Given the description of an element on the screen output the (x, y) to click on. 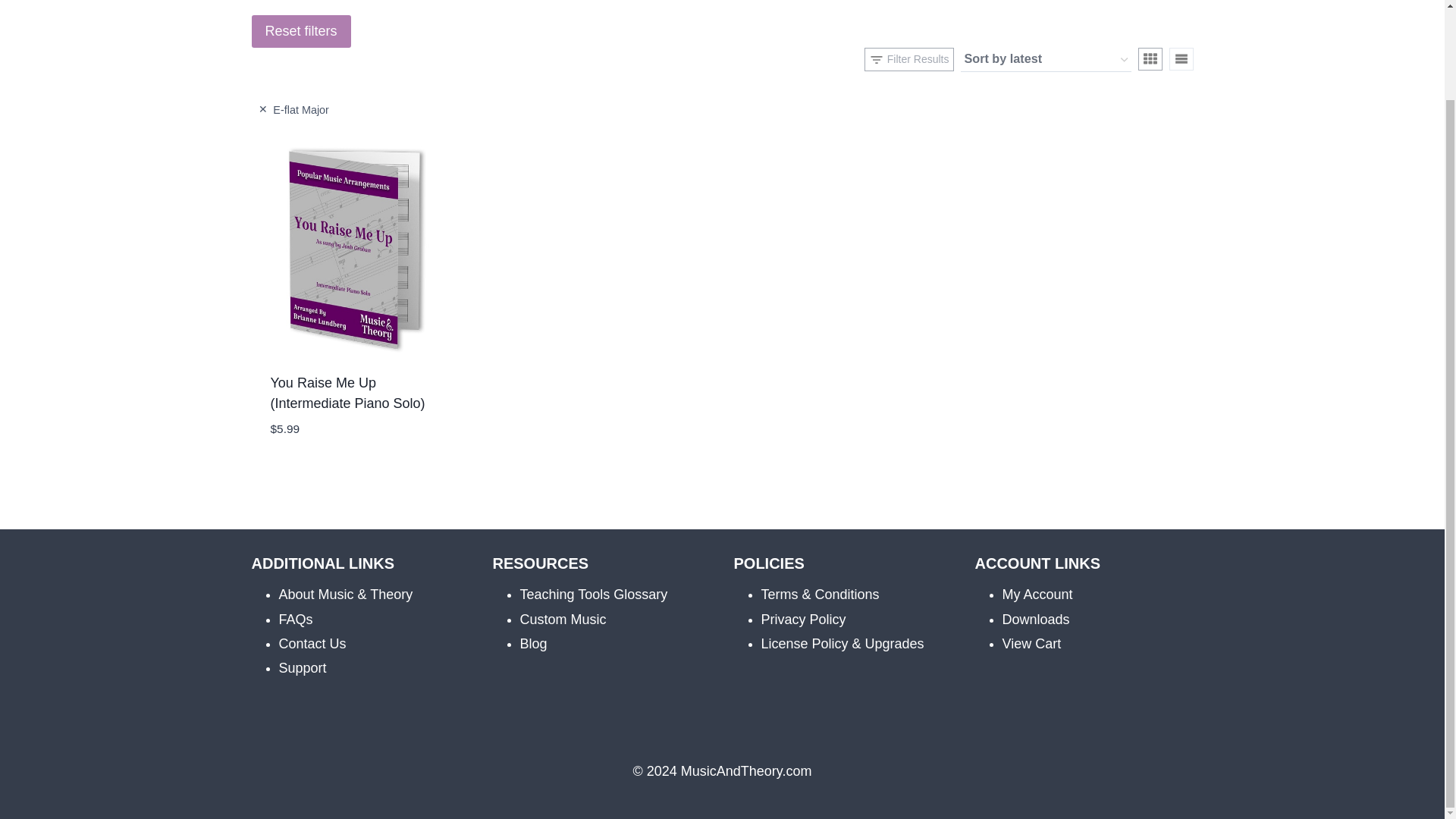
Filter Results (908, 58)
Grid View (1149, 58)
E-flat Major (292, 109)
Reset filters (300, 31)
List View (1181, 58)
